Given the description of an element on the screen output the (x, y) to click on. 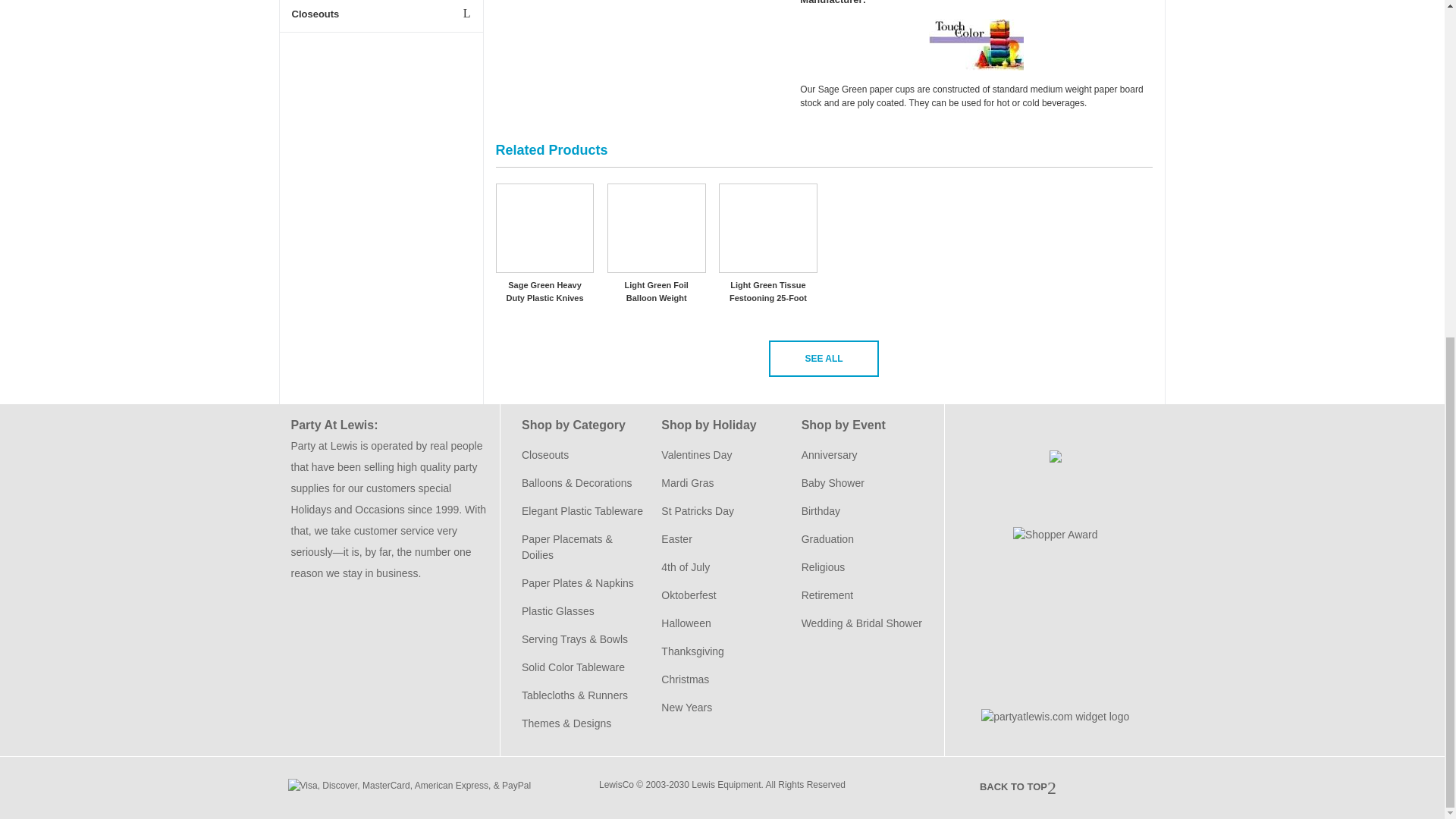
Reviews (1055, 715)
